Given the description of an element on the screen output the (x, y) to click on. 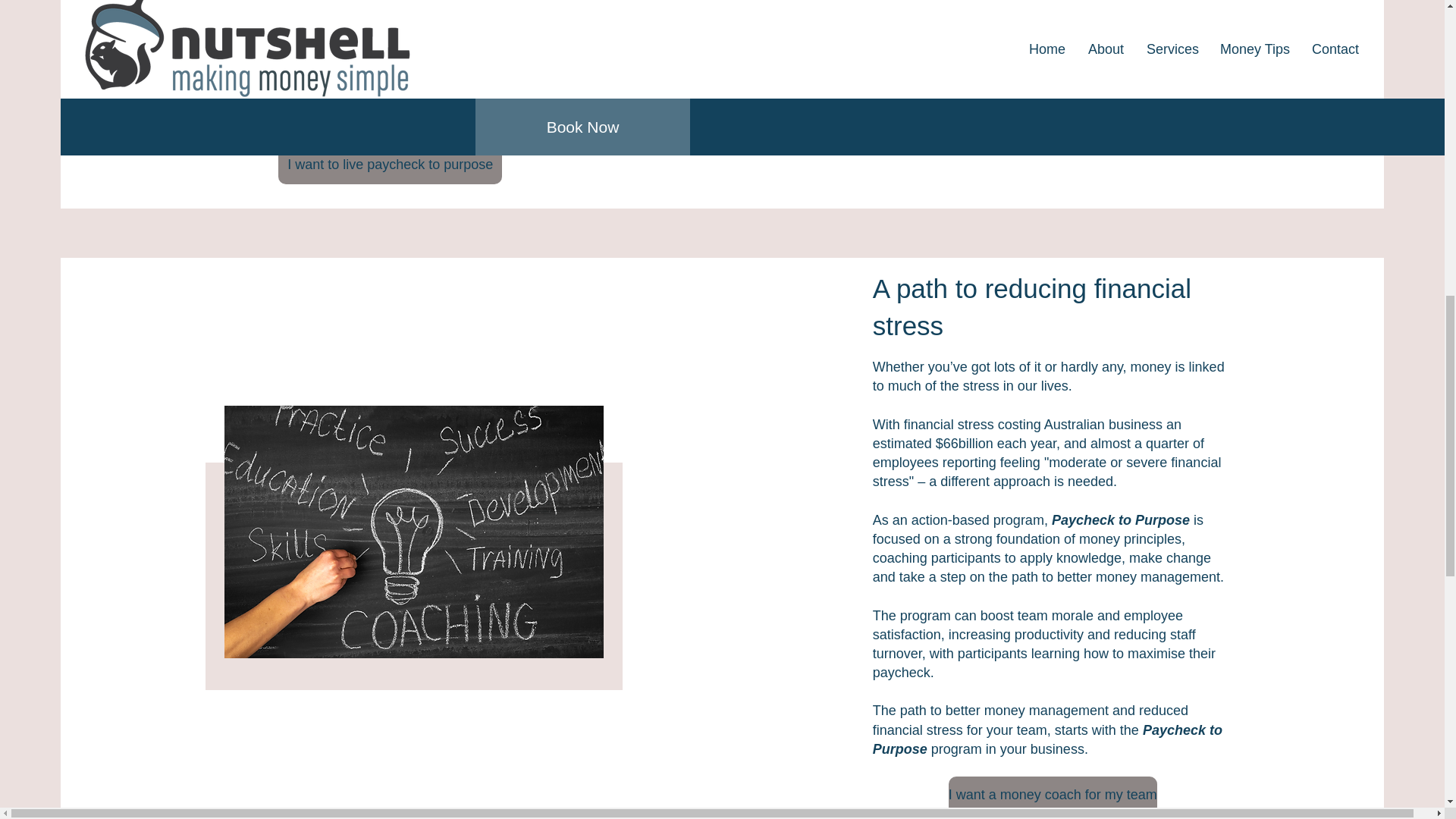
I want a money coach for my team (1053, 795)
I want to live paycheck to purpose (390, 165)
